Given the description of an element on the screen output the (x, y) to click on. 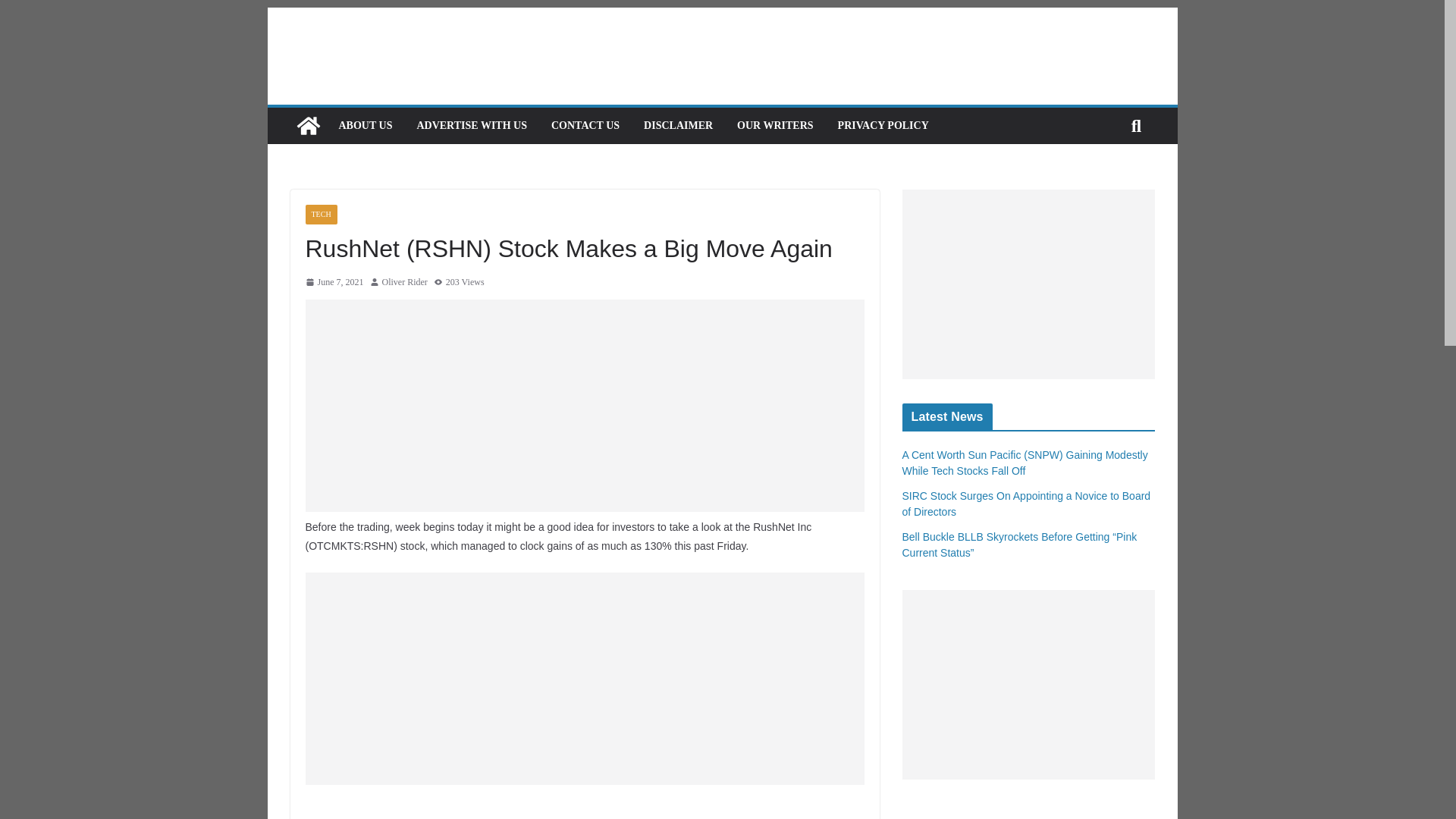
DISCLAIMER (678, 125)
ABOUT US (364, 125)
CONTACT US (585, 125)
Advertisement (584, 678)
Flip Figures (307, 125)
TECH (320, 214)
OUR WRITERS (774, 125)
Oliver Rider (404, 282)
